Given the description of an element on the screen output the (x, y) to click on. 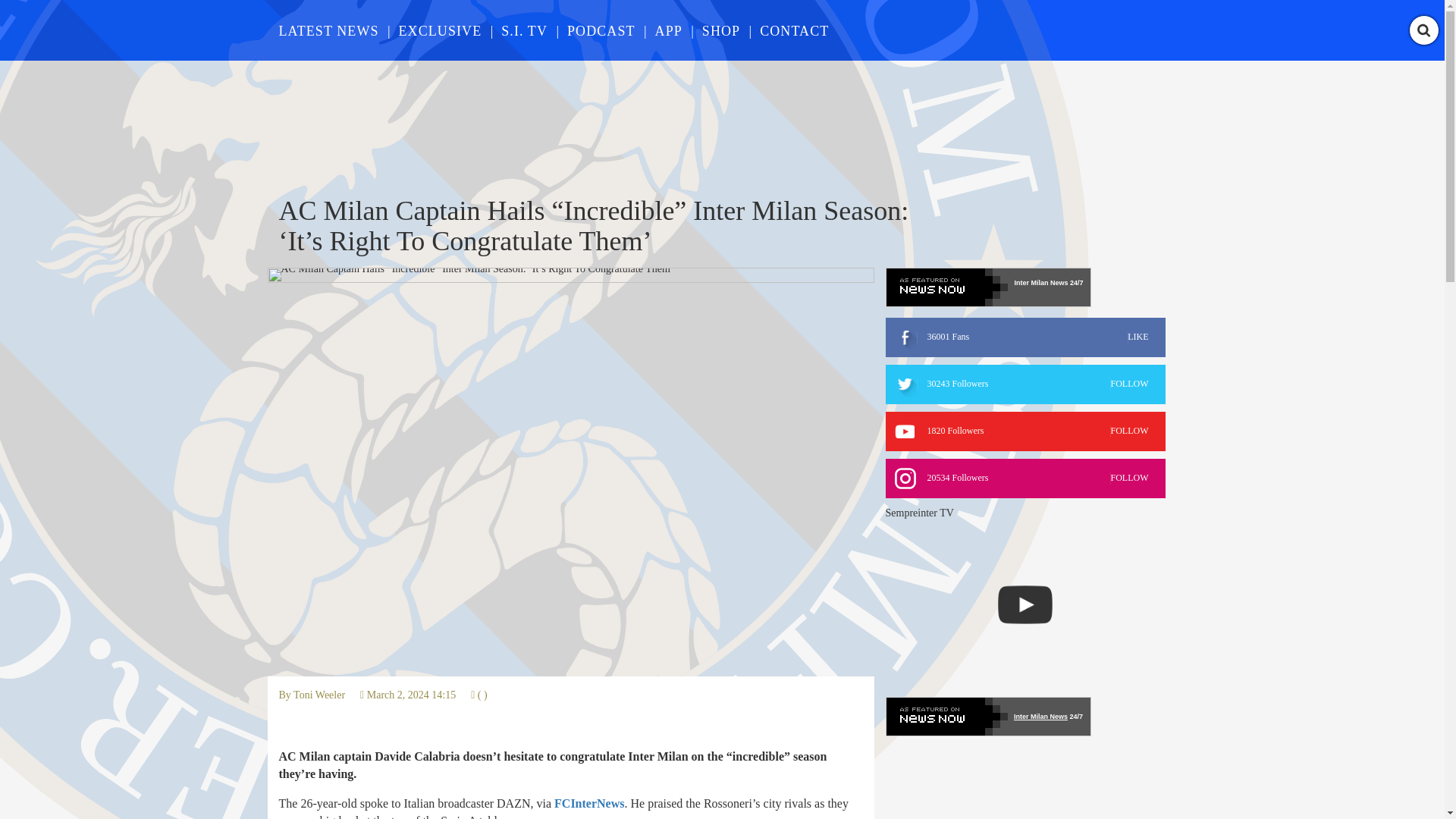
EXCLUSIVE (439, 30)
SHOP (720, 30)
Click here for more Inter Milan News from NewsNow (987, 716)
S.I. TV (523, 30)
Inter Milan News (1040, 282)
FCInterNews (589, 802)
APP (668, 30)
CONTACT (1025, 431)
